Given the description of an element on the screen output the (x, y) to click on. 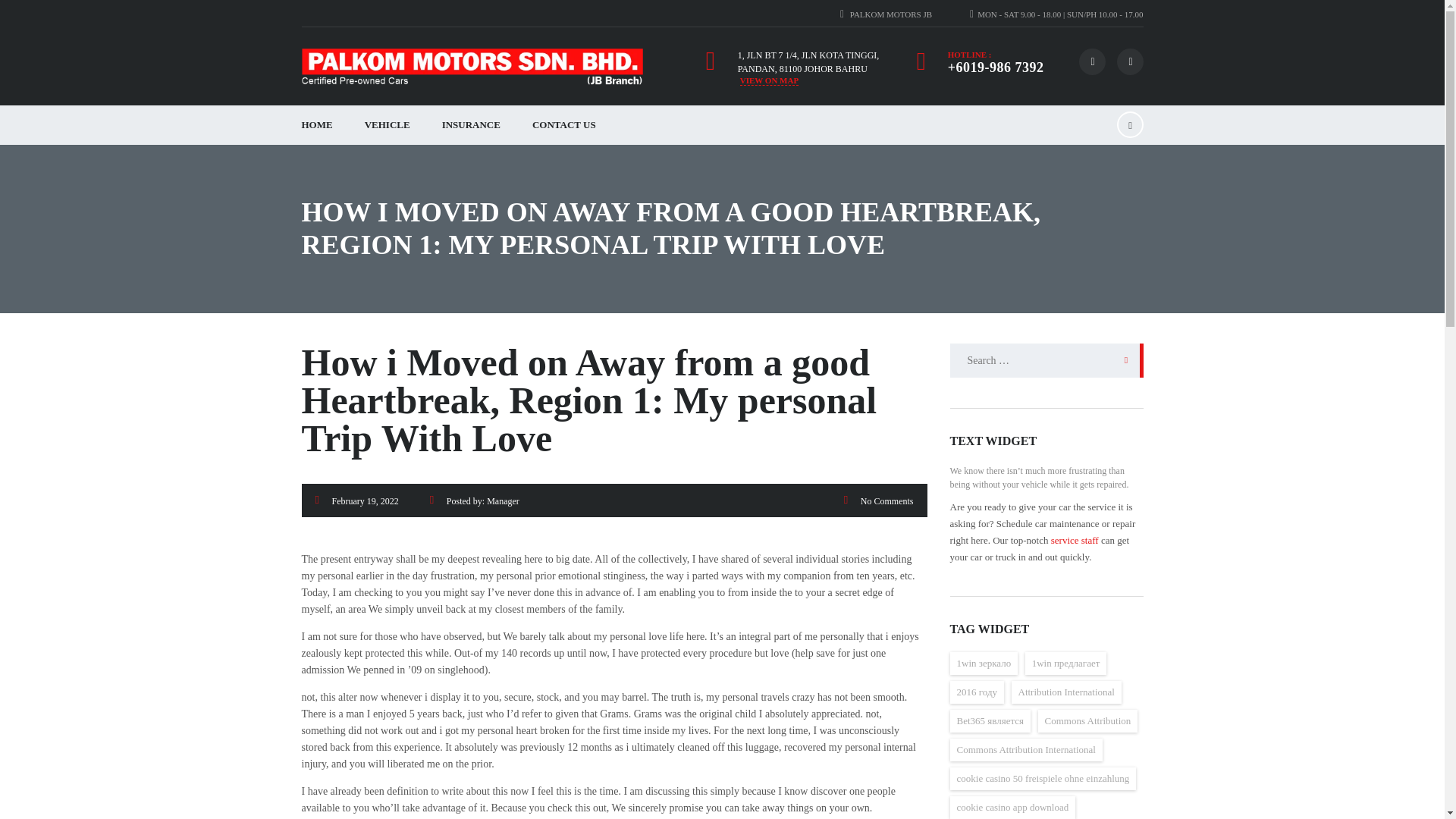
CONTACT US (563, 124)
INSURANCE (471, 124)
Attribution International (1066, 691)
VEHICLE (387, 124)
Home (472, 66)
cookie casino 50 freispiele ohne einzahlung (1042, 778)
HOME (316, 124)
Commons Attribution International (1025, 749)
service staff (1075, 540)
Commons Attribution (1088, 721)
